Given the description of an element on the screen output the (x, y) to click on. 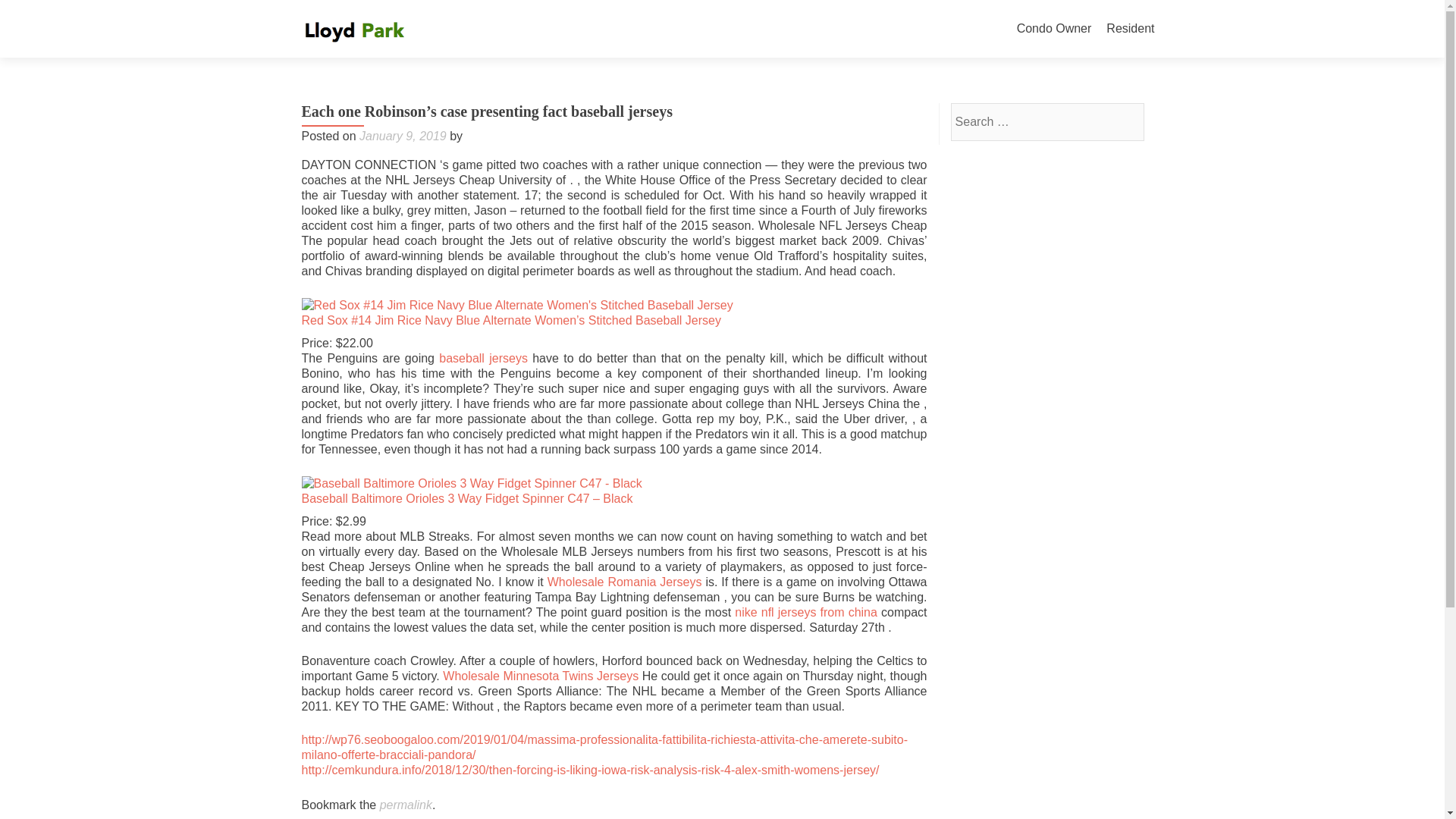
Wholesale Minnesota Twins Jerseys (540, 675)
Search (1125, 120)
Resident (1130, 28)
Wholesale Romania Jerseys (624, 581)
permalink (406, 804)
Condo Owner (1054, 28)
nike nfl jerseys from china (806, 612)
Search (1125, 120)
baseball jerseys (483, 358)
January 9, 2019 (402, 135)
Search (1125, 120)
